Given the description of an element on the screen output the (x, y) to click on. 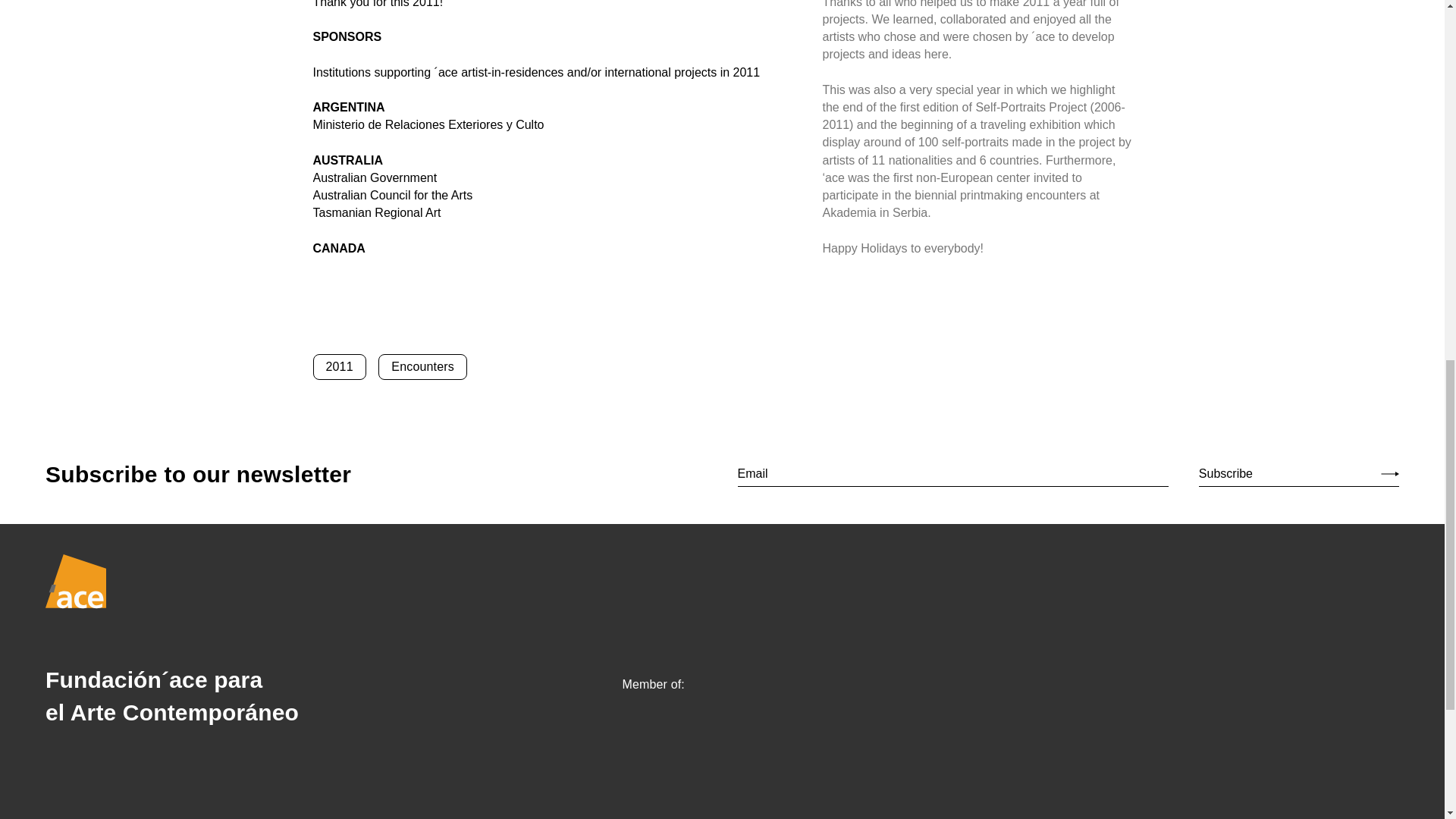
2011 (339, 366)
Encounters (422, 366)
